Given the description of an element on the screen output the (x, y) to click on. 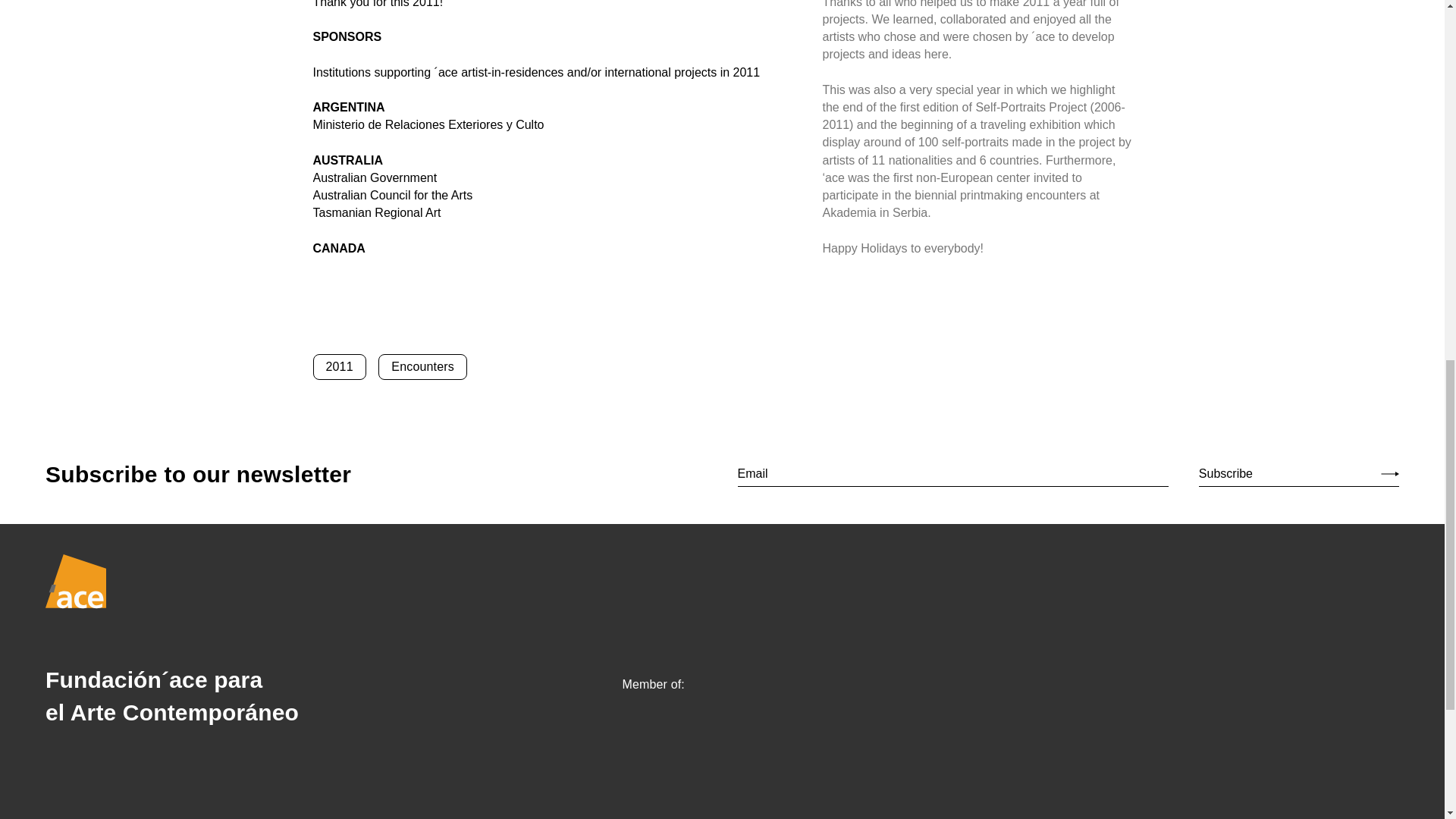
2011 (339, 366)
Encounters (422, 366)
